Given the description of an element on the screen output the (x, y) to click on. 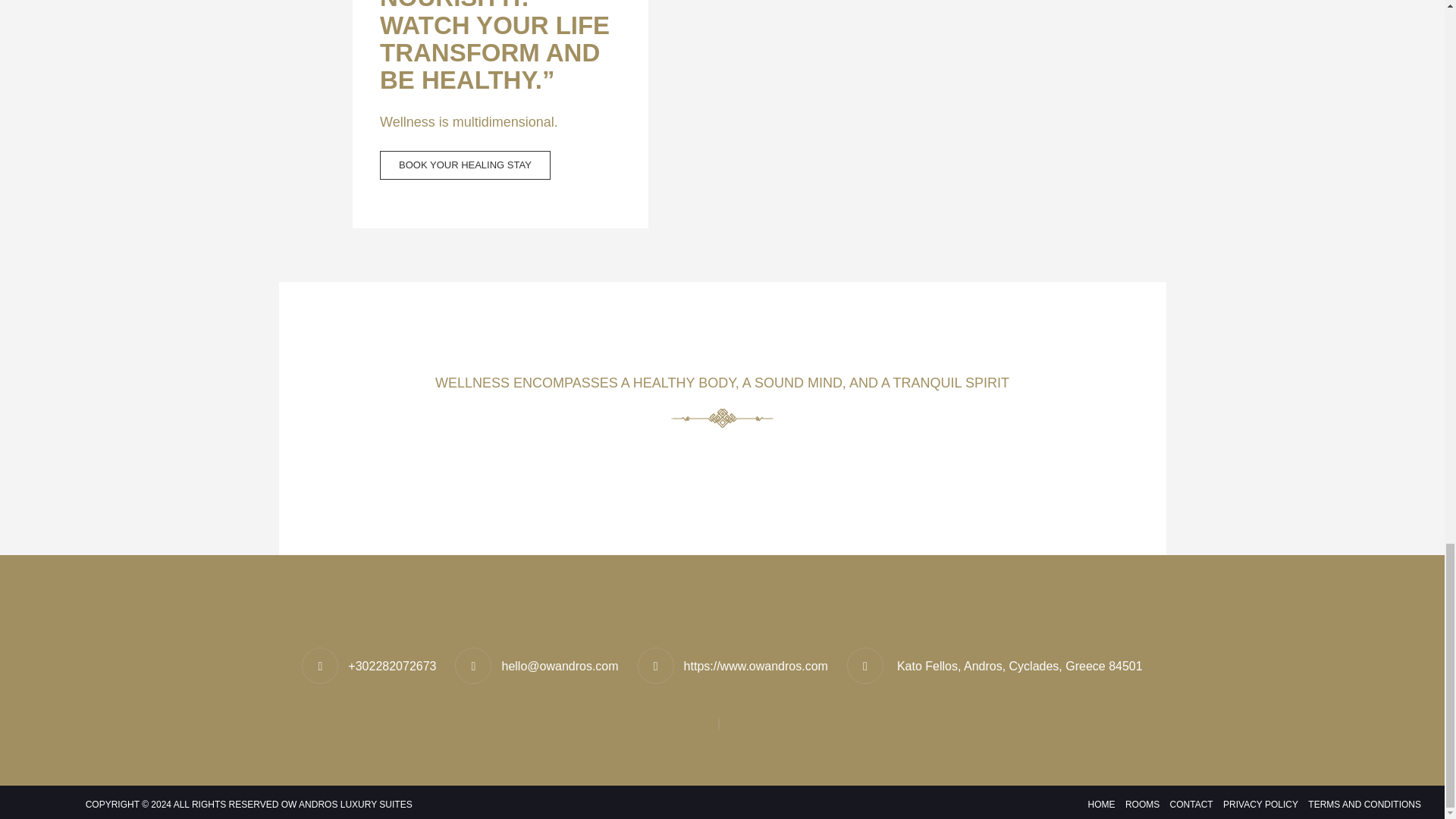
HOME (1101, 804)
BOOK YOUR HEALING STAY (465, 164)
PRIVACY POLICY (1260, 804)
TERMS AND CONDITIONS (1362, 804)
CONTACT (1191, 804)
booking.owandros.com (465, 164)
ROOMS (1142, 804)
